Given the description of an element on the screen output the (x, y) to click on. 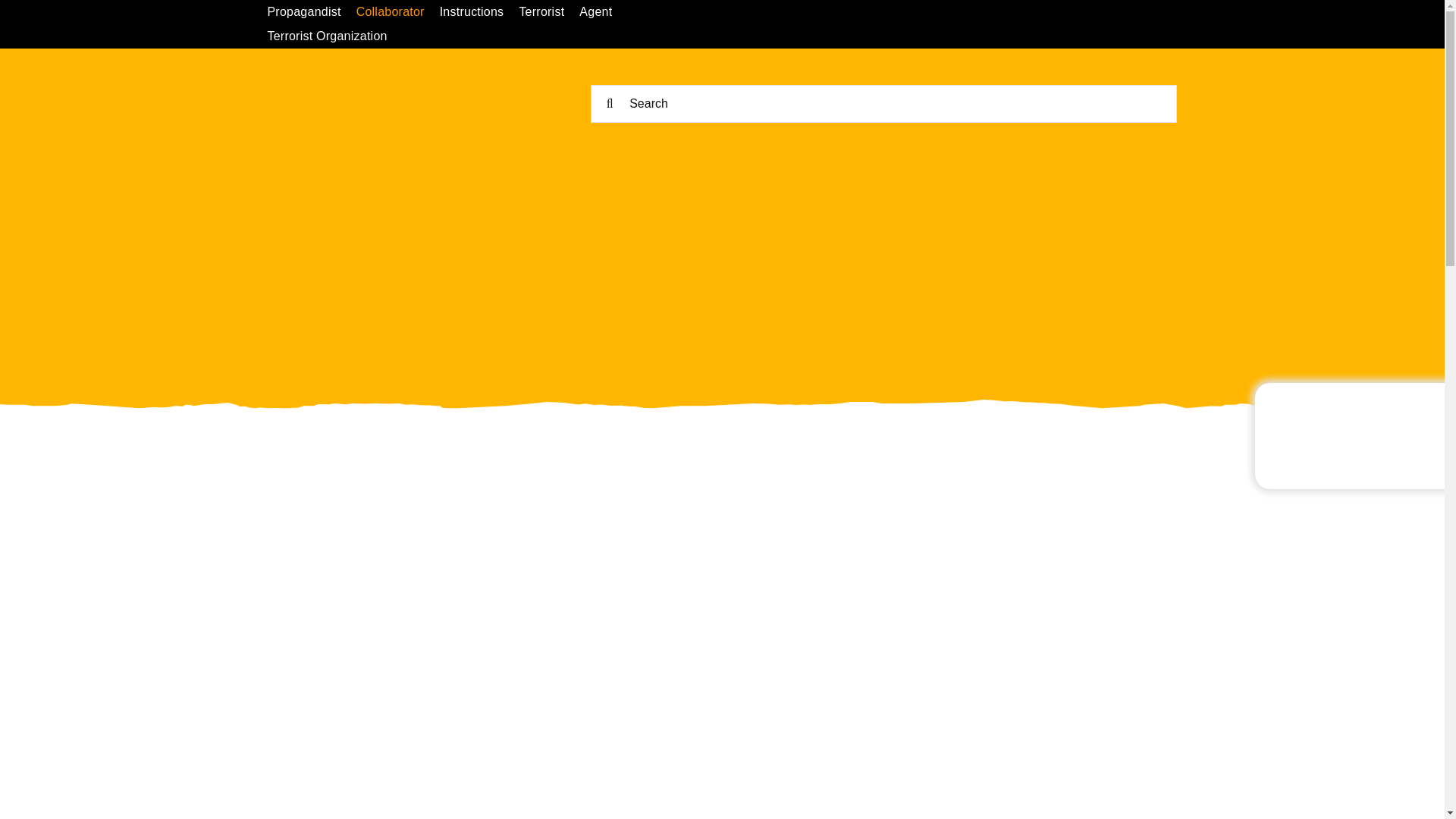
Propagandist (310, 12)
Agent (603, 12)
Instructions (479, 12)
Terrorist (548, 12)
Terrorist Organization (333, 36)
Collaborator (397, 12)
